Given the description of an element on the screen output the (x, y) to click on. 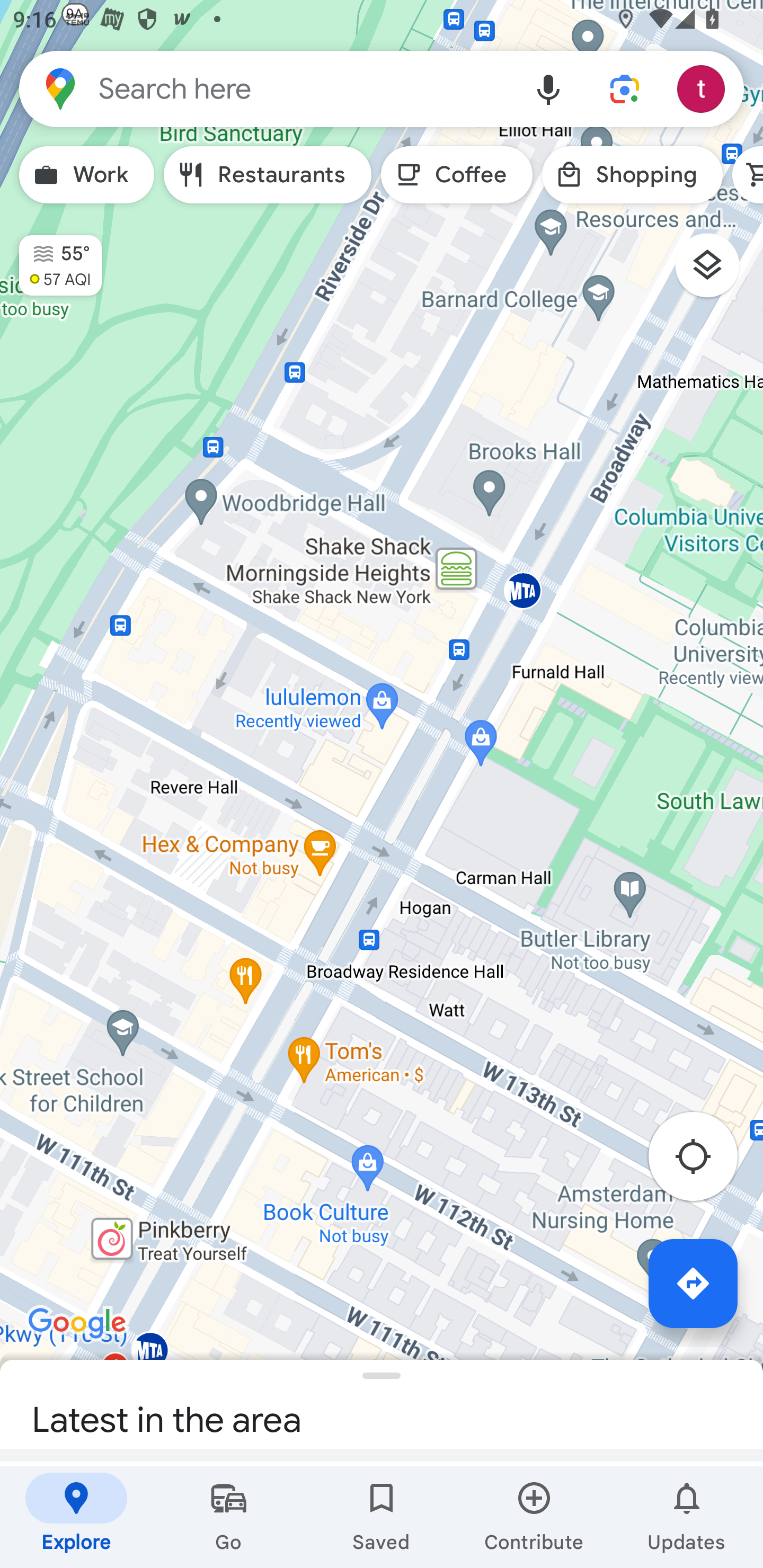
Search here (264, 88)
Voice search (548, 88)
Lens in Maps (624, 88)
Work (86, 174)
Restaurants Search for Restaurants (267, 174)
Coffee Search for Coffee (456, 174)
Shopping Search for Shopping (631, 174)
Mist, 55°, Moderate, 57 AQI 55° 57 AQI (50, 257)
Layers (716, 271)
Re-center map to your location (702, 1161)
Directions (692, 1283)
Go (228, 1517)
Saved (381, 1517)
Contribute (533, 1517)
Updates (686, 1517)
